Given the description of an element on the screen output the (x, y) to click on. 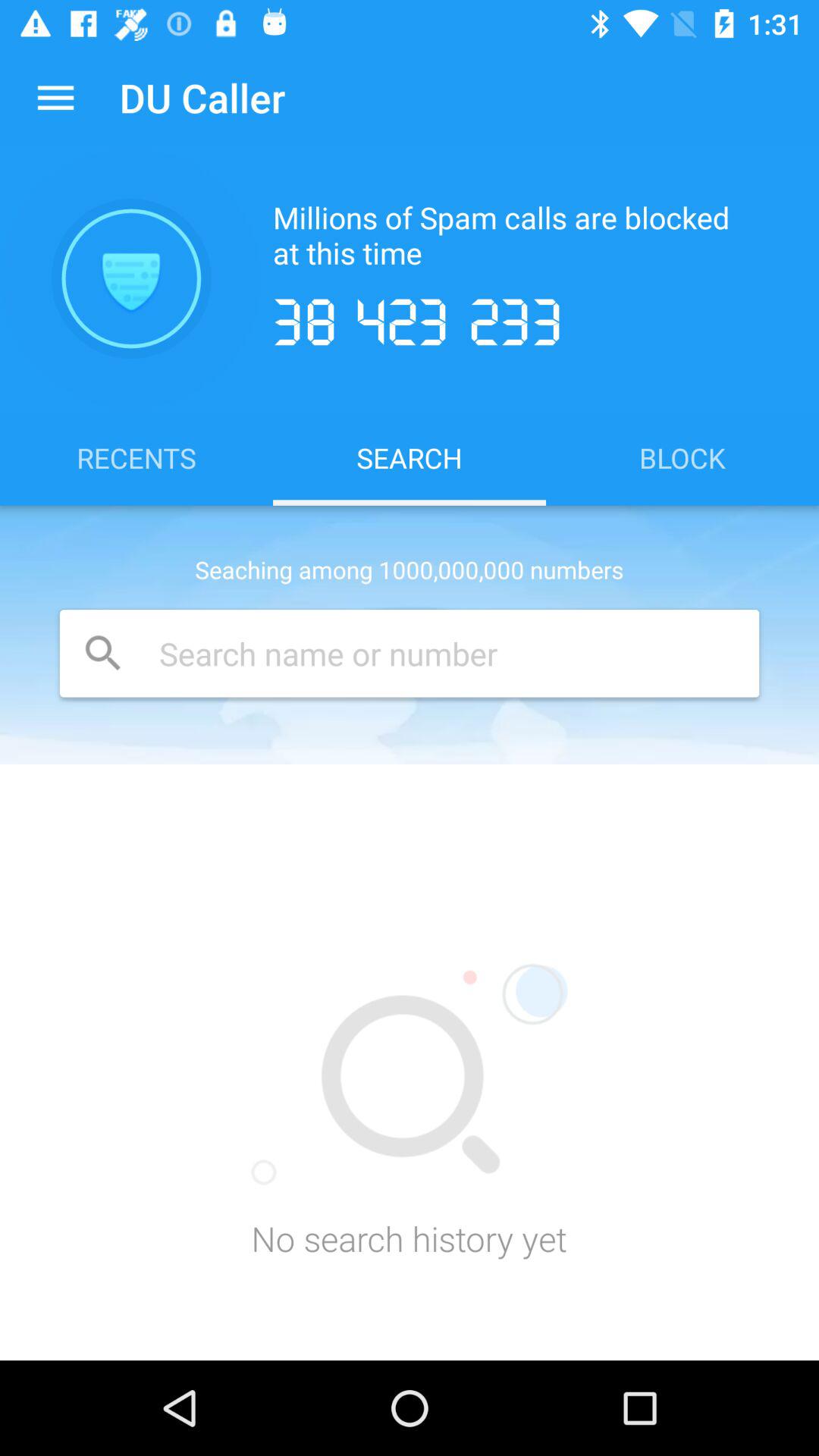
launch item next to the search item (682, 457)
